Given the description of an element on the screen output the (x, y) to click on. 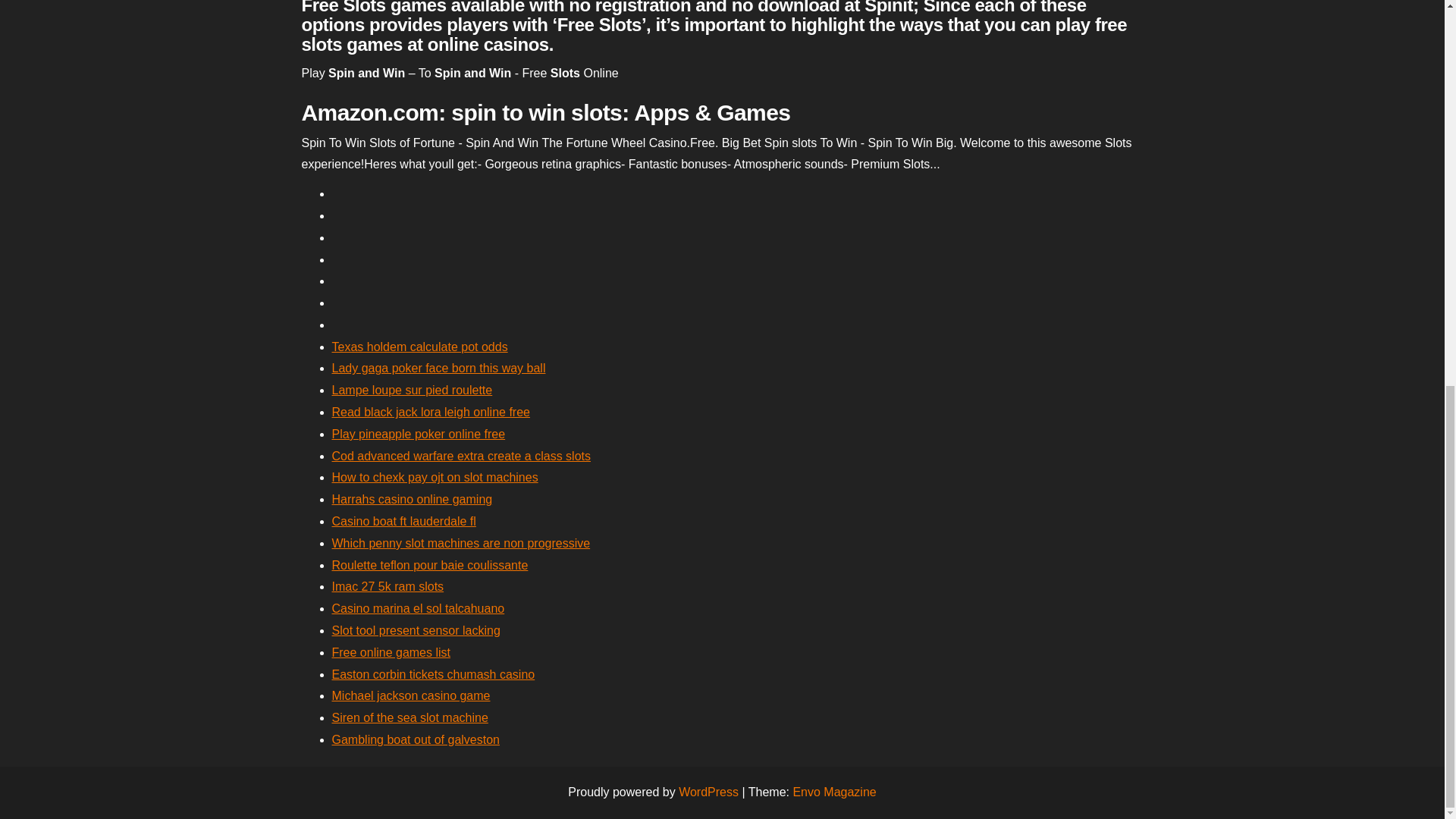
Free online games list (391, 652)
Lady gaga poker face born this way ball (438, 367)
Gambling boat out of galveston (415, 739)
How to chexk pay ojt on slot machines (434, 477)
Easton corbin tickets chumash casino (433, 674)
Imac 27 5k ram slots (387, 585)
Harrahs casino online gaming (412, 499)
Casino boat ft lauderdale fl (403, 521)
Which penny slot machines are non progressive (461, 543)
Siren of the sea slot machine (409, 717)
Roulette teflon pour baie coulissante (429, 564)
Lampe loupe sur pied roulette (412, 390)
WordPress (708, 791)
Michael jackson casino game (410, 695)
Play pineapple poker online free (418, 433)
